Given the description of an element on the screen output the (x, y) to click on. 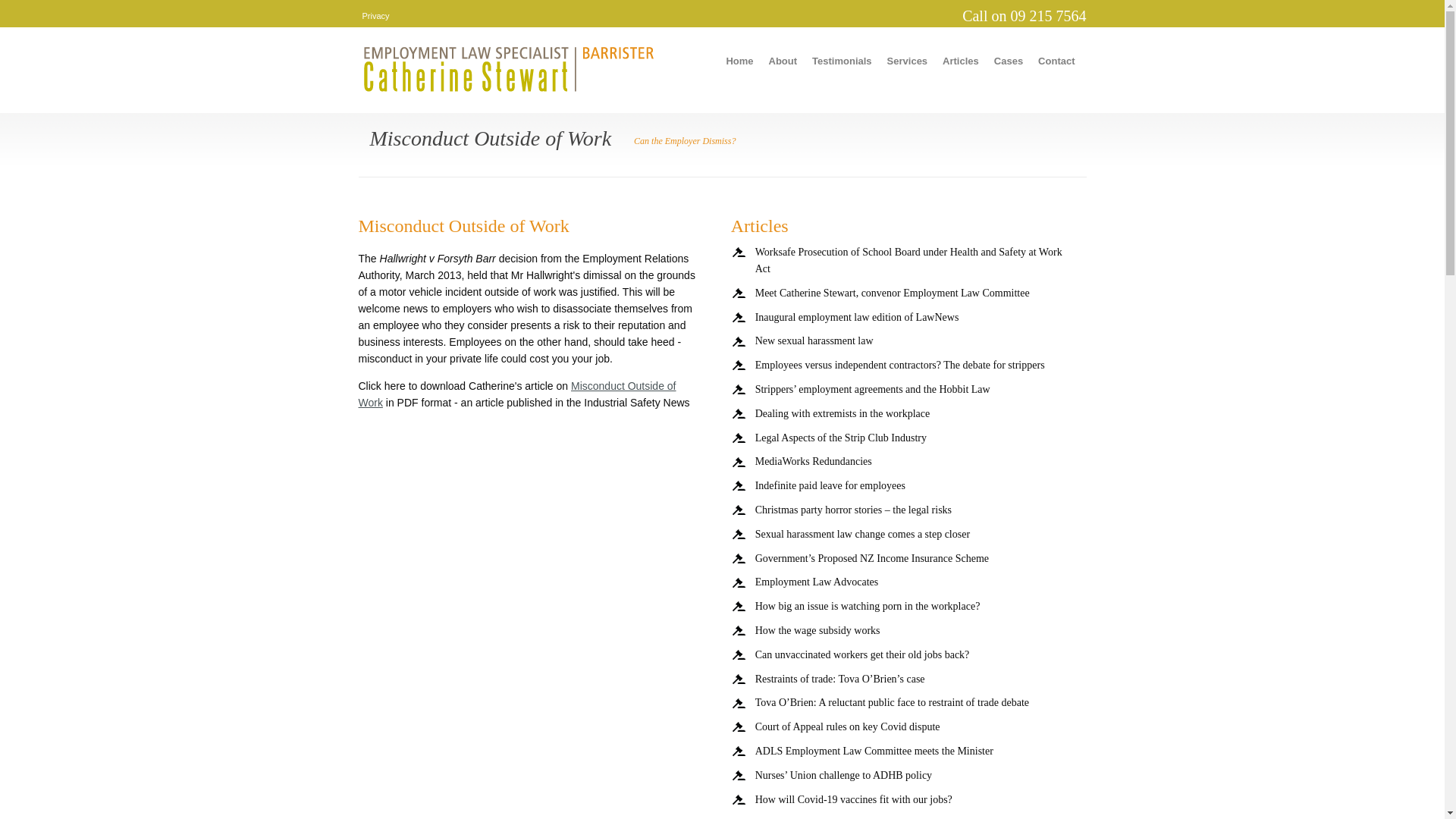
Testimonials (842, 67)
Privacy (376, 15)
Privacy (376, 15)
